Given the description of an element on the screen output the (x, y) to click on. 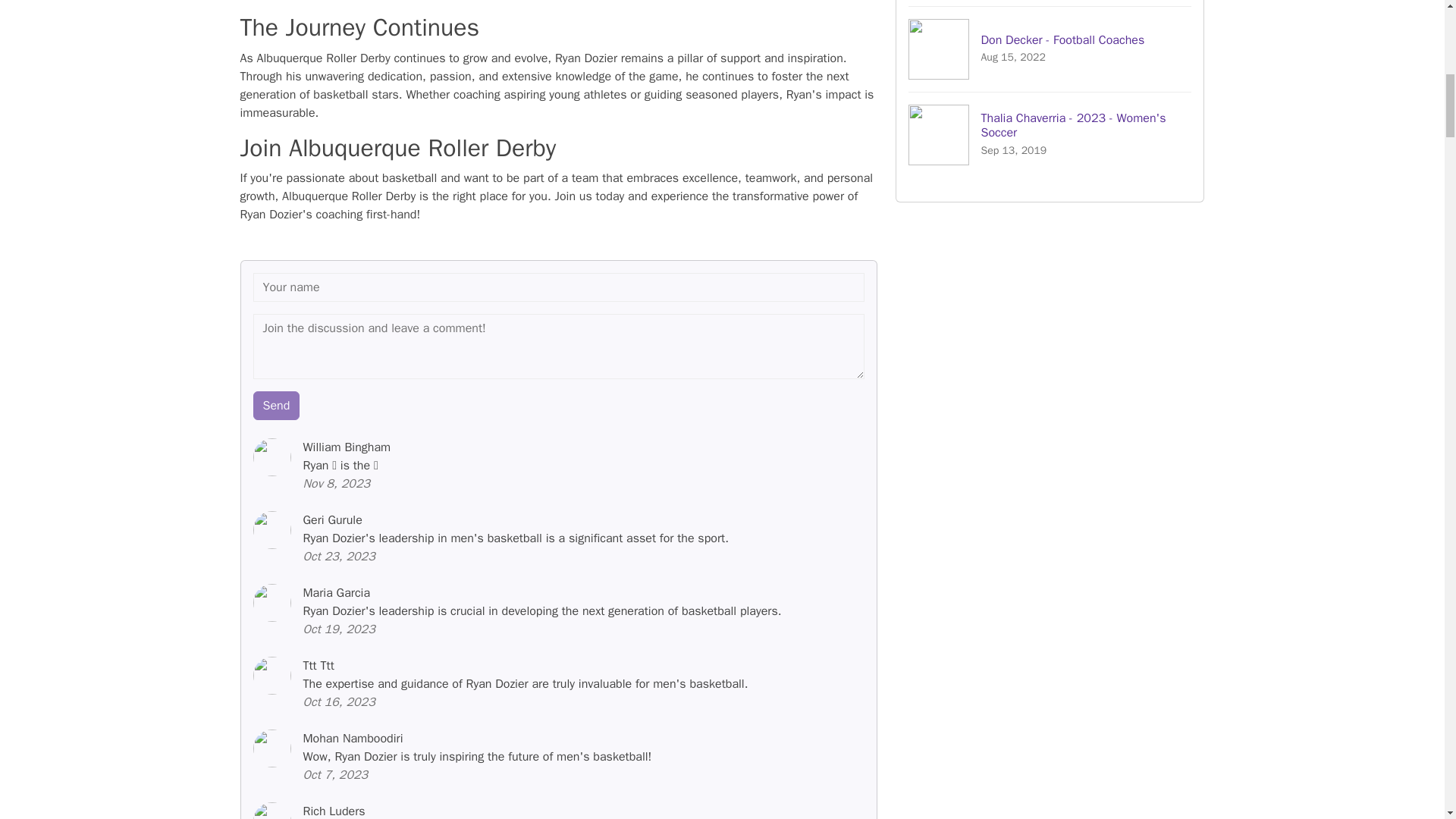
Send (1050, 2)
Send (276, 405)
